Given the description of an element on the screen output the (x, y) to click on. 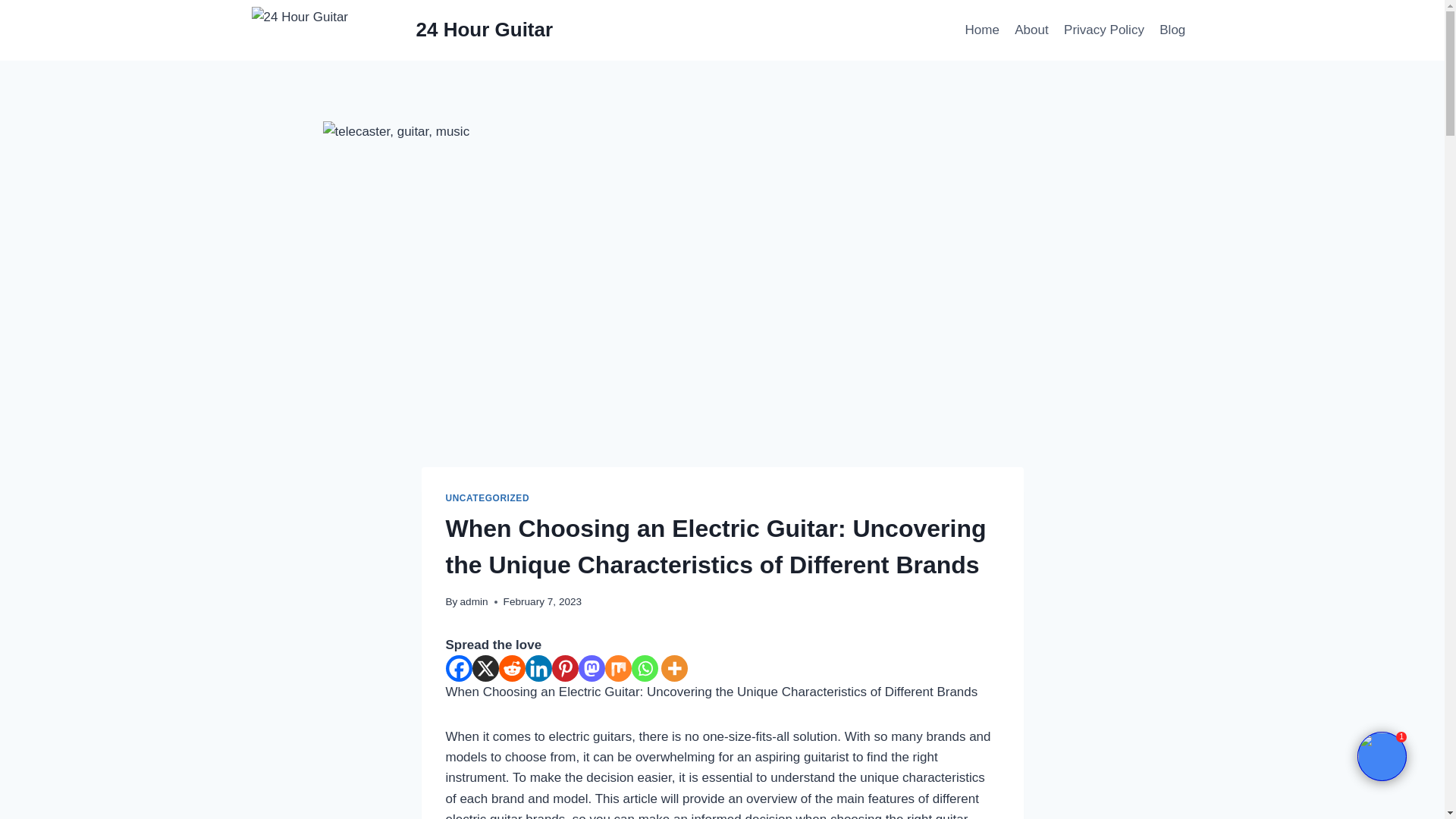
About (1032, 30)
Mix (618, 668)
Home (981, 30)
Pinterest (564, 668)
Reddit (512, 668)
Blog (1171, 30)
Privacy Policy (1104, 30)
Linkedin (537, 668)
admin (473, 601)
Whatsapp (644, 668)
Mastodon (591, 668)
More (674, 668)
UNCATEGORIZED (487, 498)
X (484, 668)
24 Hour Guitar (402, 29)
